Given the description of an element on the screen output the (x, y) to click on. 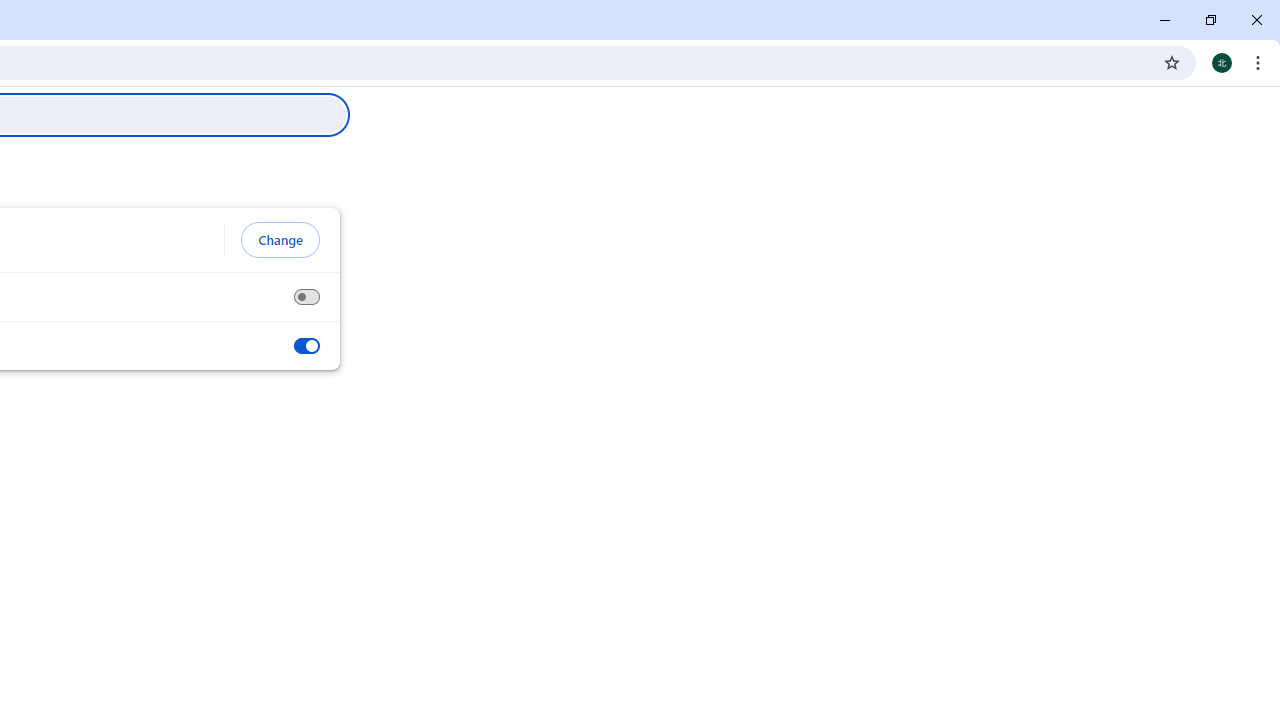
Change (280, 240)
Show downloads when they're done (306, 345)
Ask where to save each file before downloading (306, 297)
